Given the description of an element on the screen output the (x, y) to click on. 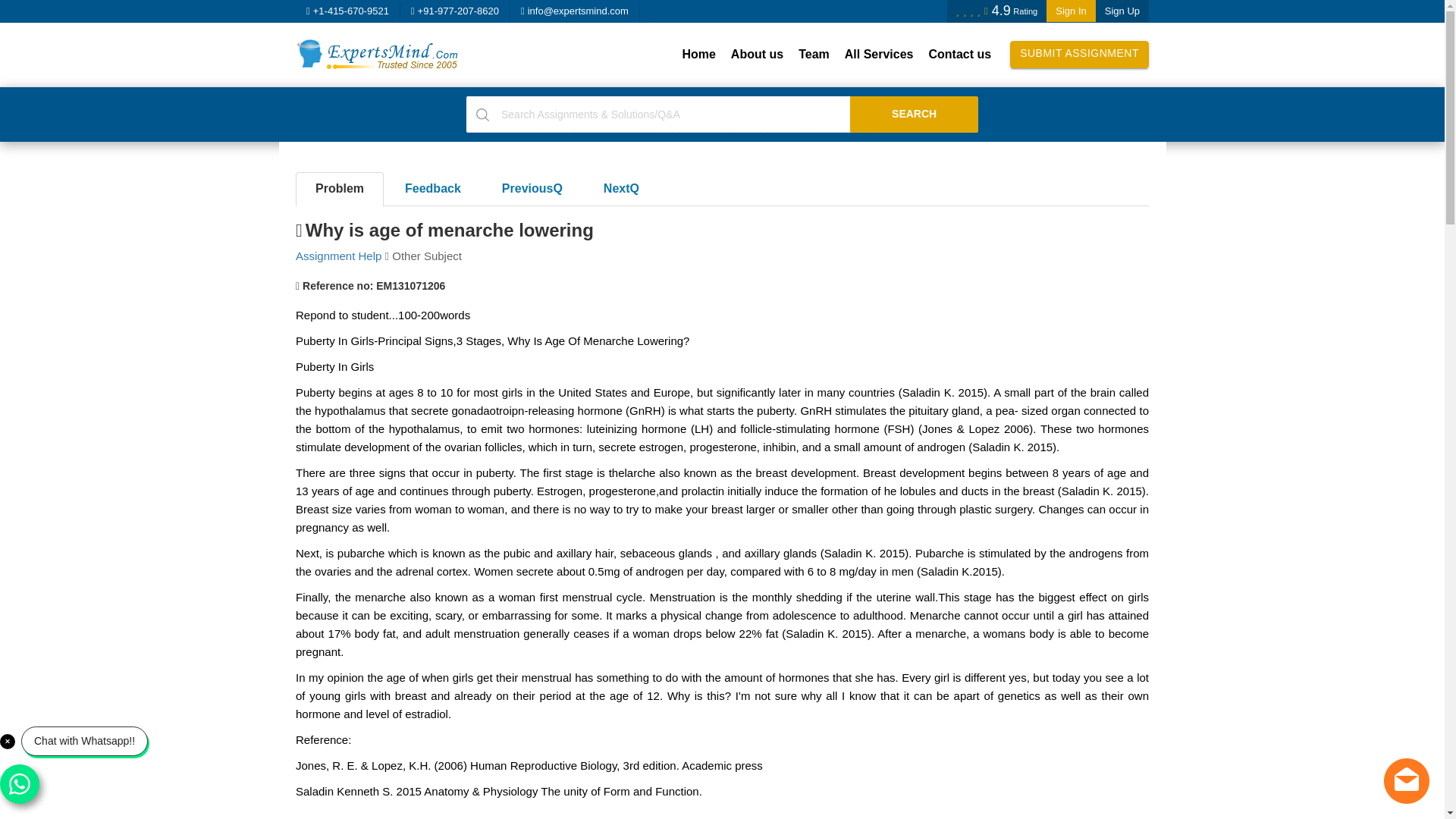
Search (914, 114)
PreviousQ (531, 188)
Problem (339, 188)
4.9 Rating (996, 11)
Sign Up (1122, 11)
Home (698, 54)
Contact us (959, 54)
About us (756, 54)
Search (914, 114)
Team (813, 54)
Sign In (1070, 11)
SUBMIT ASSIGNMENT (1079, 53)
Feedback (432, 188)
Live chat offline (1406, 780)
All Services (879, 54)
